Given the description of an element on the screen output the (x, y) to click on. 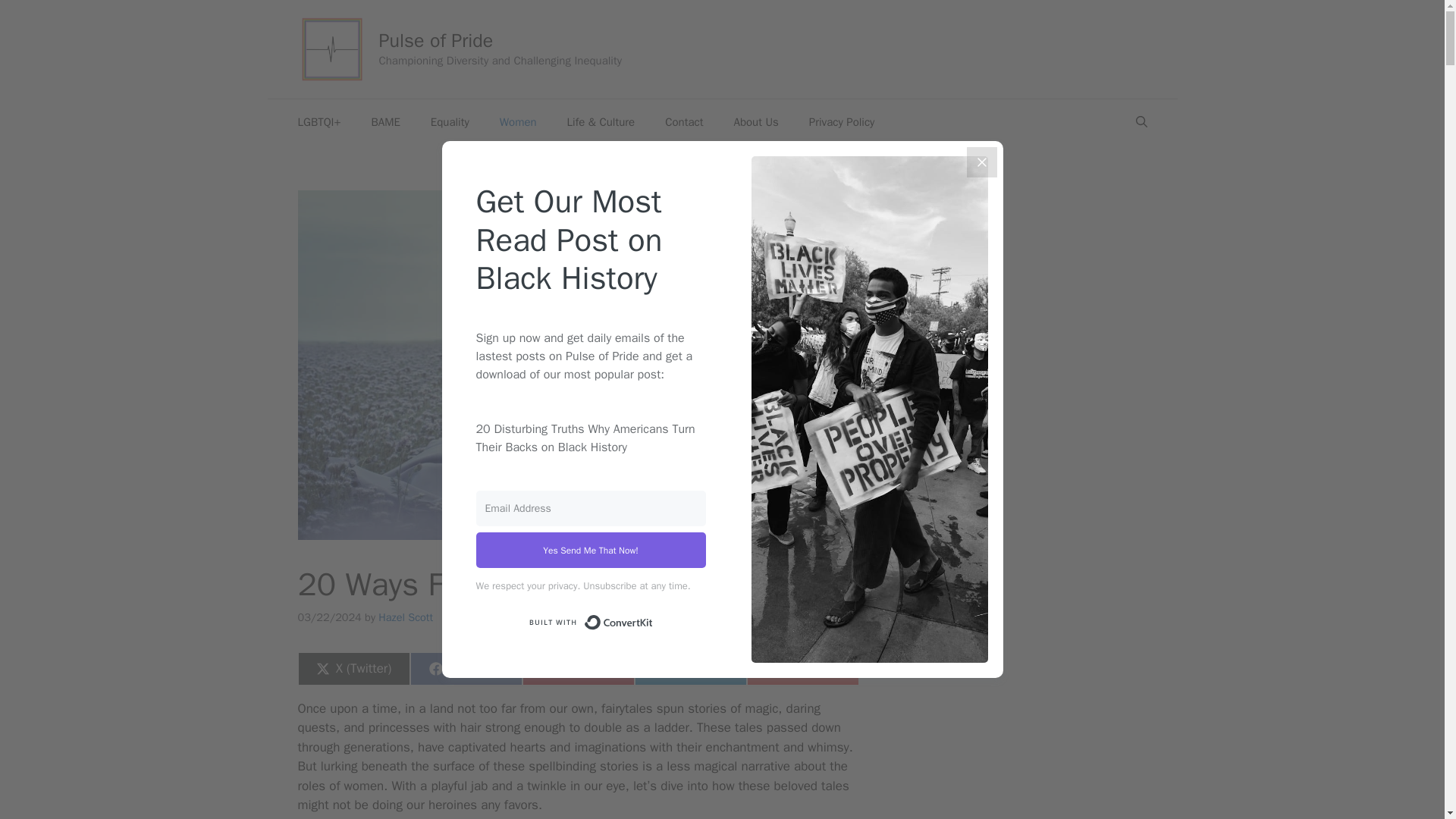
Equality (449, 121)
Pulse of Pride (435, 40)
BAME (577, 668)
Contact (384, 121)
View all posts by Hazel Scott (689, 668)
Women (683, 121)
Privacy Policy (405, 617)
Hazel Scott (517, 121)
About Us (841, 121)
